Given the description of an element on the screen output the (x, y) to click on. 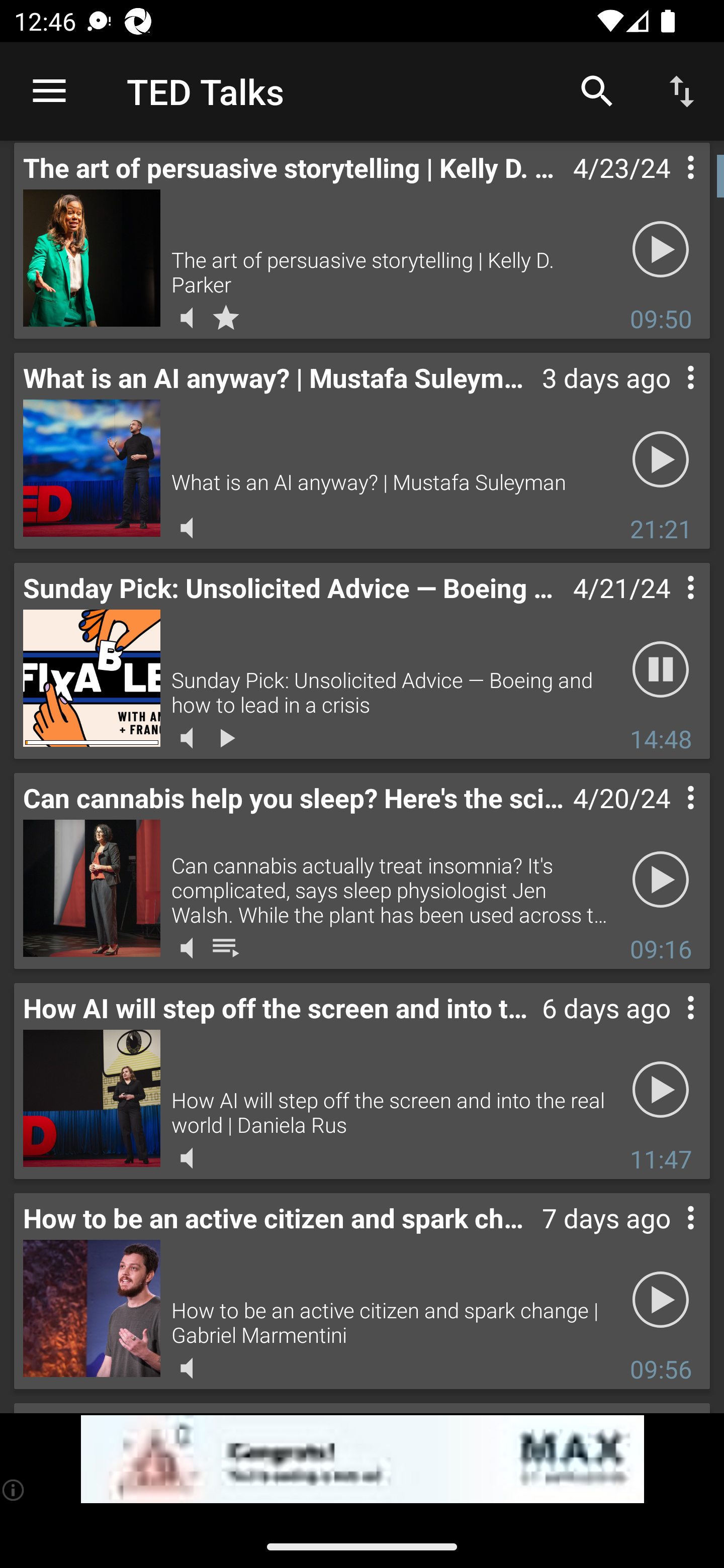
Open navigation sidebar (49, 91)
Search (597, 90)
Sort (681, 90)
Contextual menu (668, 186)
Play (660, 248)
Contextual menu (668, 397)
Play (660, 459)
Contextual menu (668, 607)
Pause (660, 669)
Contextual menu (668, 817)
Play (660, 878)
Contextual menu (668, 1027)
Play (660, 1088)
Contextual menu (668, 1237)
Play (660, 1298)
app-monetization (362, 1459)
(i) (14, 1489)
